Given the description of an element on the screen output the (x, y) to click on. 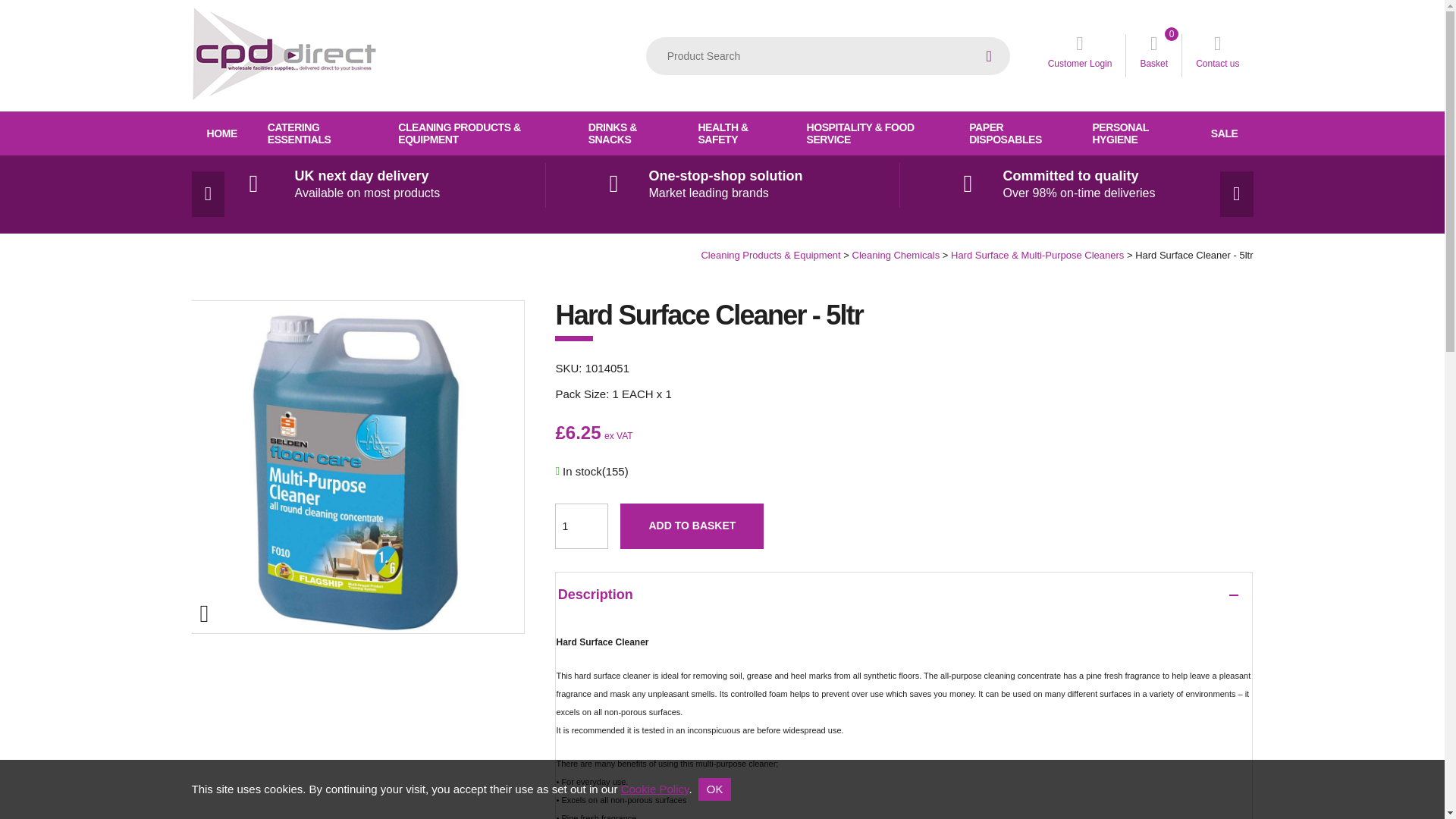
1 (1152, 55)
Customer Login (581, 525)
CATERING ESSENTIALS (1079, 55)
Contact us (316, 133)
HOME (1217, 55)
Go (220, 133)
